Given the description of an element on the screen output the (x, y) to click on. 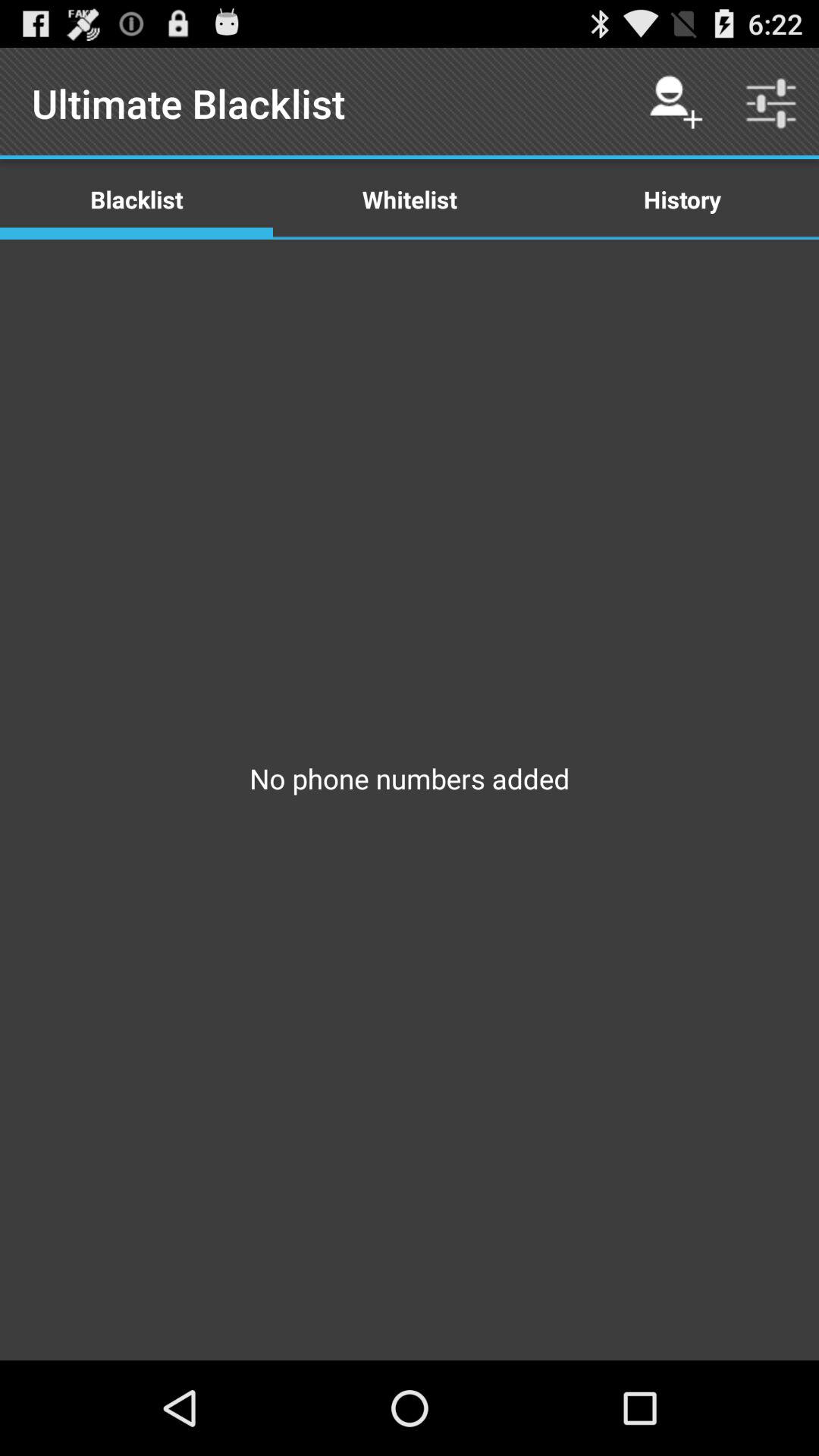
launch item at the top (409, 199)
